Given the description of an element on the screen output the (x, y) to click on. 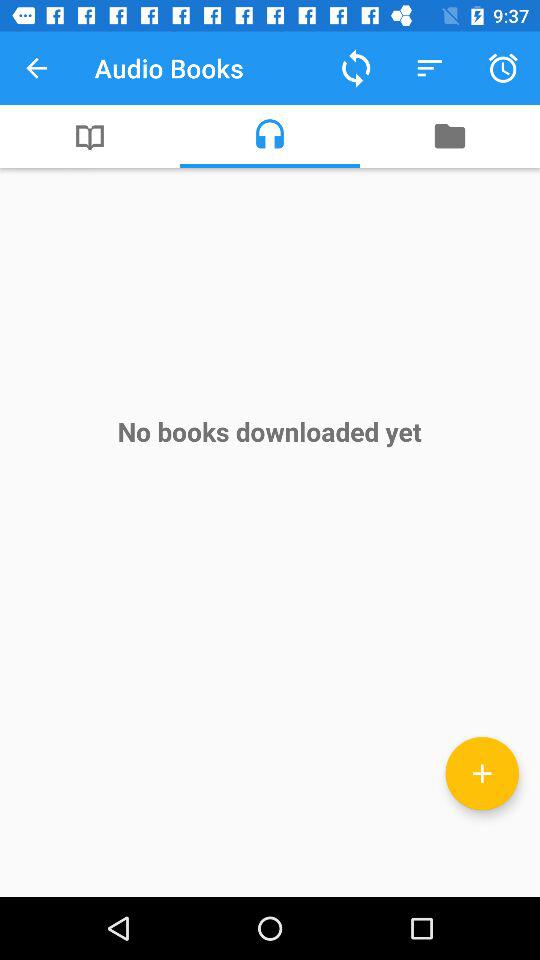
press the icon next to audio books icon (36, 68)
